Given the description of an element on the screen output the (x, y) to click on. 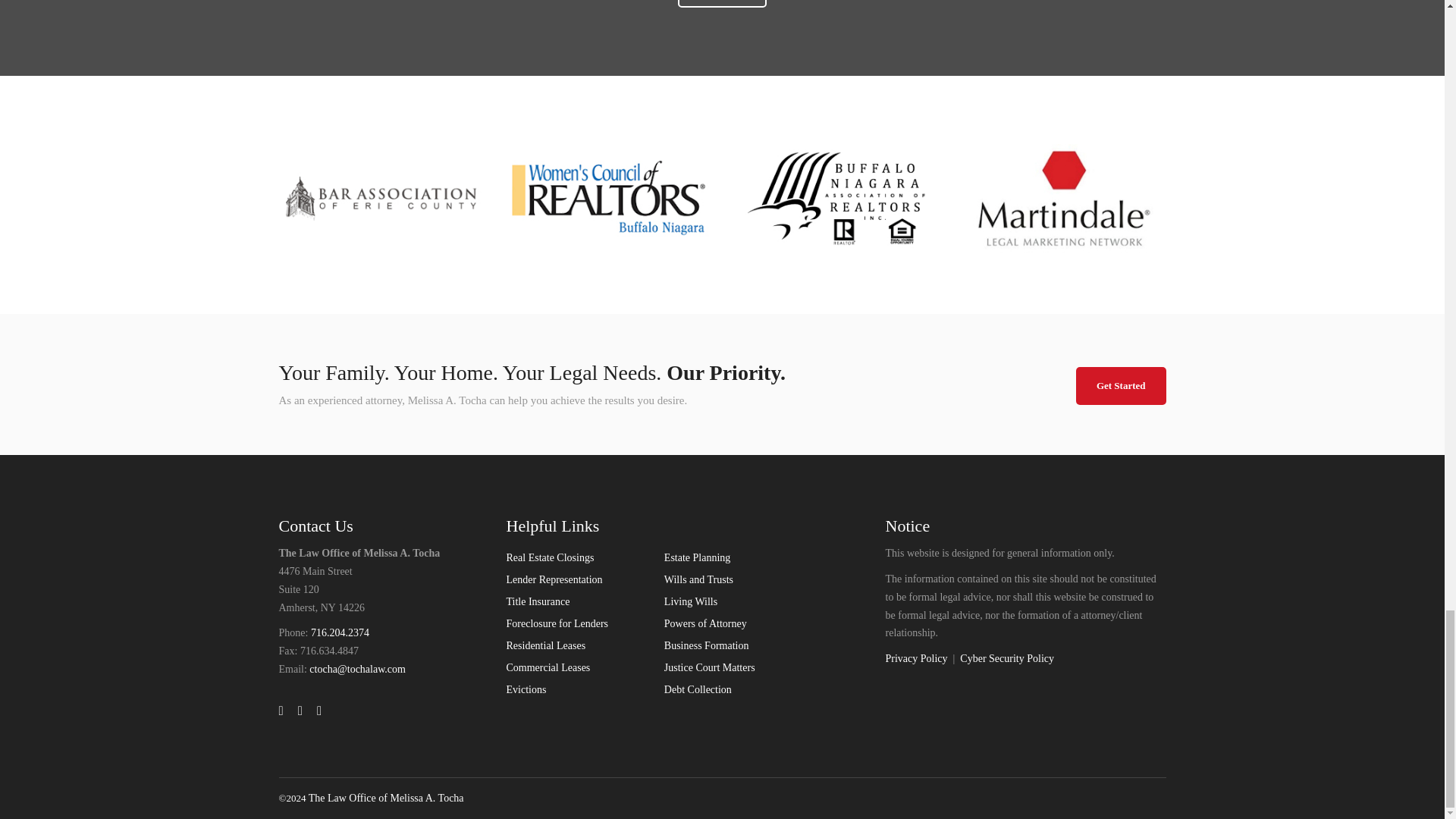
Estate Planning (696, 557)
Legal services for establishing Wills and Trusts (698, 579)
716.204.2374 (340, 632)
Commercial Leases (548, 667)
The Law Office of Melissa A. Tocha on Facebook (281, 710)
Legal services for establishing Powers of Attorey (704, 623)
Legal representation for lender foreclosure (557, 623)
Wills and Trusts (698, 579)
Legal representation for residential leases (546, 645)
Powers of Attorney (704, 623)
Residential Leases (546, 645)
Legal assistance with estate planning (696, 557)
Evictions (526, 689)
